Given the description of an element on the screen output the (x, y) to click on. 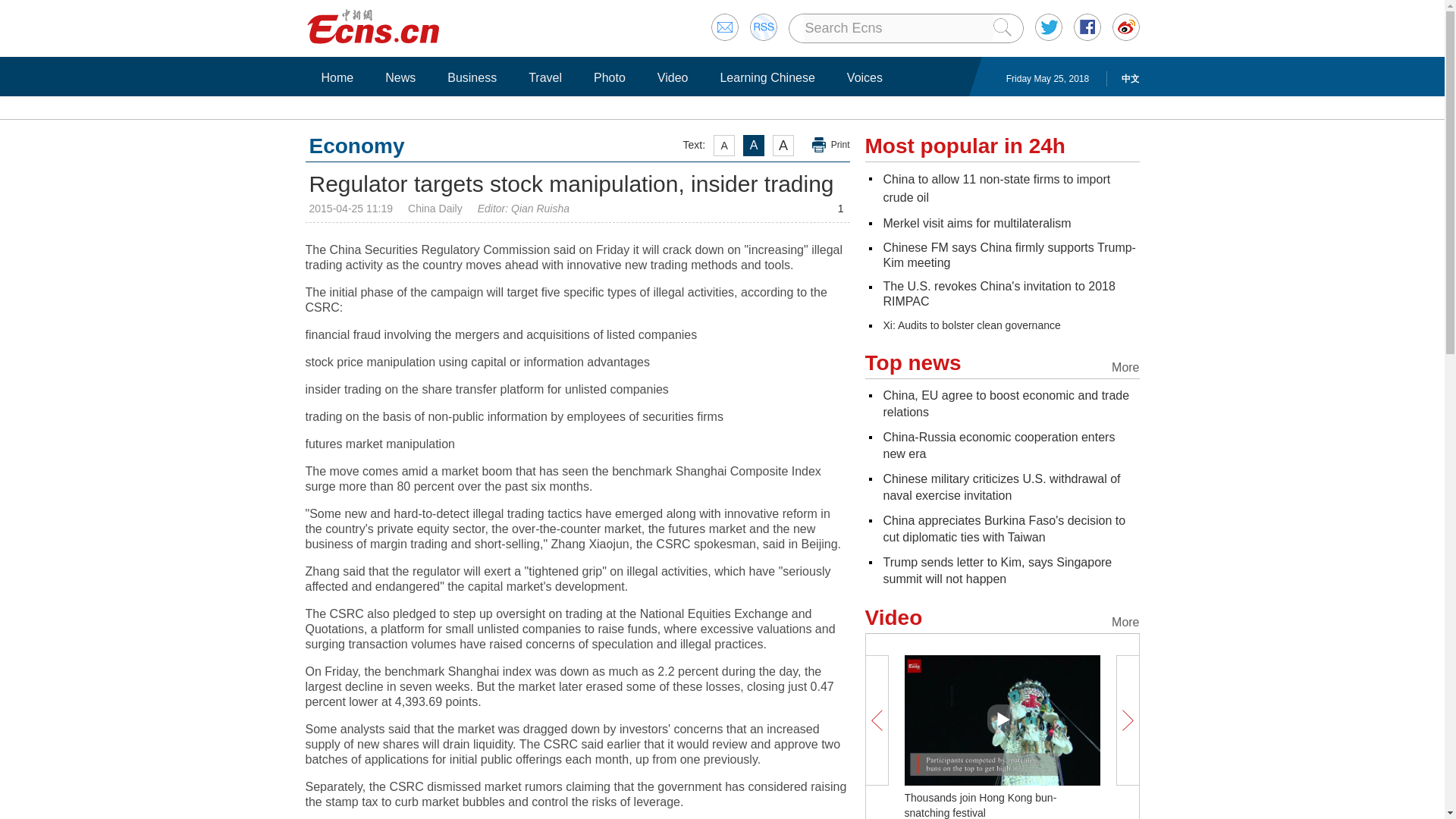
Photo (609, 77)
Print (831, 144)
Search Ecns (897, 27)
The U.S. revokes China's invitation to 2018 RIMPAC (998, 293)
Video (673, 77)
Voices (864, 77)
Xi: Audits to bolster clean governance (970, 325)
China to allow 11 non-state firms to import crude oil (995, 187)
Home (337, 77)
Chinese FM says China firmly supports Trump-Kim meeting (1008, 254)
